Given the description of an element on the screen output the (x, y) to click on. 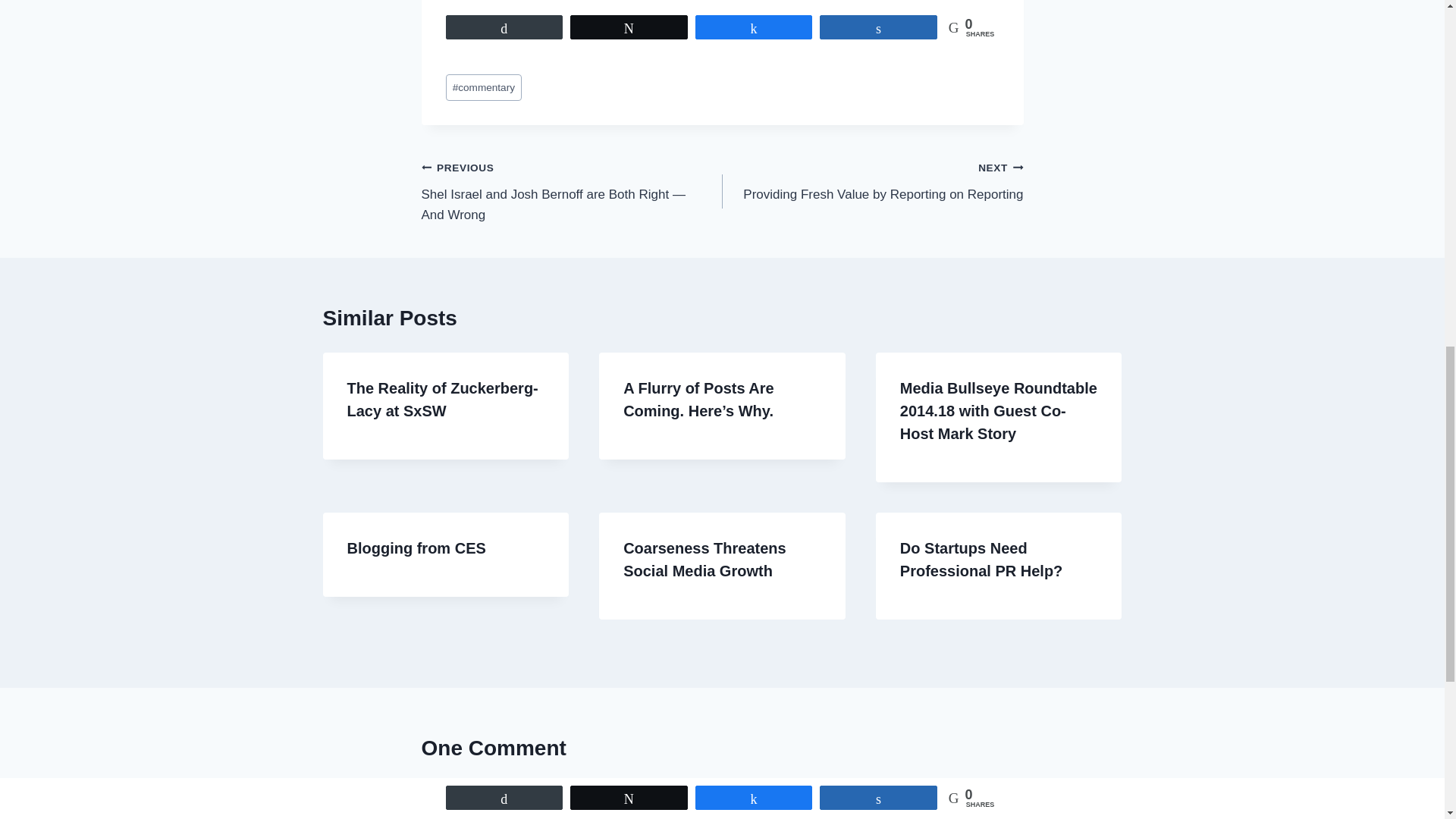
Blogging from CES (416, 547)
The Reality of Zuckerberg-Lacy at SxSW (442, 399)
Do Startups Need Professional PR Help? (980, 559)
commentary (872, 180)
Coarseness Threatens Social Media Growth (483, 87)
March 17, 2008 at 8:34 am (704, 559)
John Wall (535, 812)
